Given the description of an element on the screen output the (x, y) to click on. 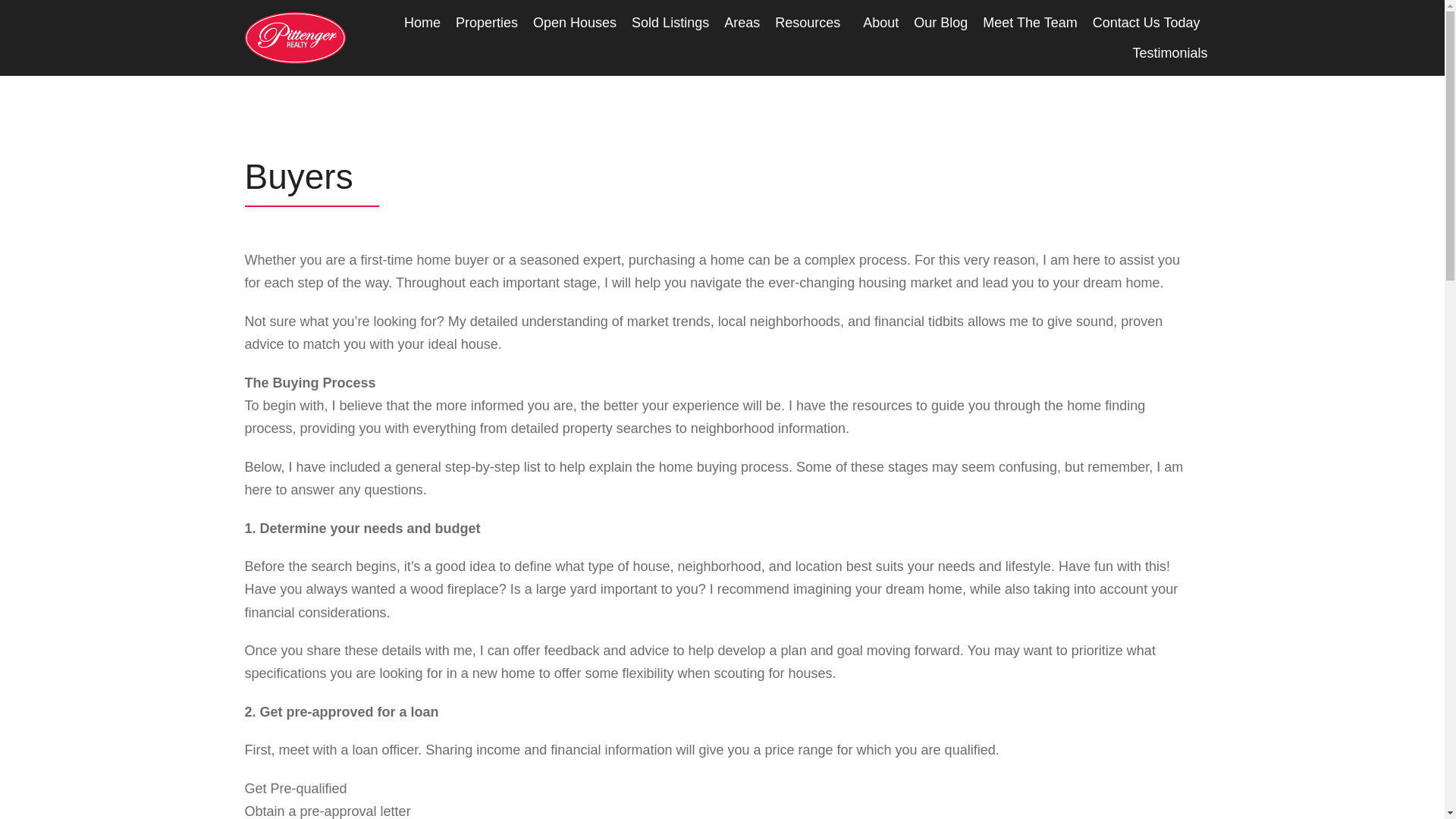
Testimonials (1169, 52)
Sold Listings (670, 22)
Properties (486, 22)
Home (422, 22)
Open Houses (573, 22)
About (880, 22)
Our Blog (941, 22)
Areas (741, 22)
Contact Us Today (1146, 22)
Meet The Team (1029, 22)
Resources (810, 22)
